Given the description of an element on the screen output the (x, y) to click on. 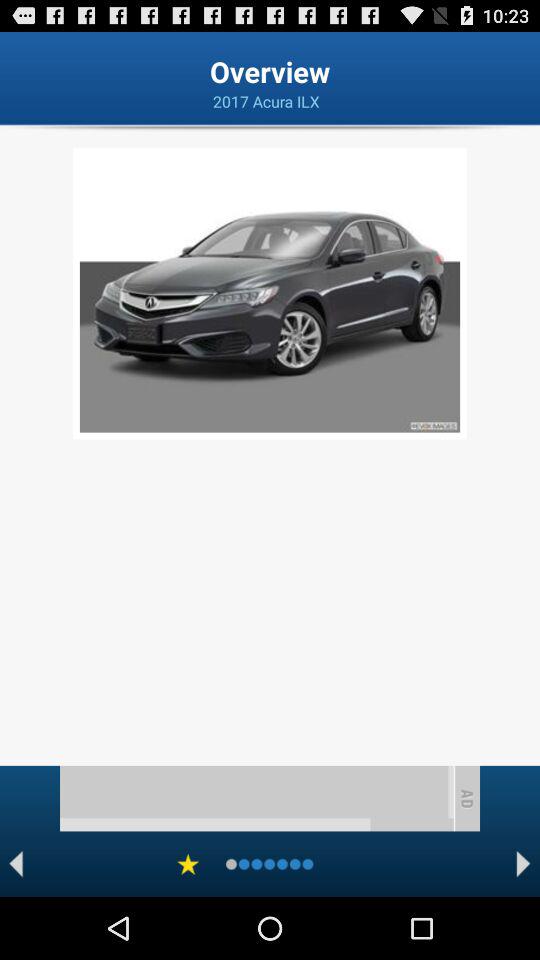
rate the car (188, 864)
